Given the description of an element on the screen output the (x, y) to click on. 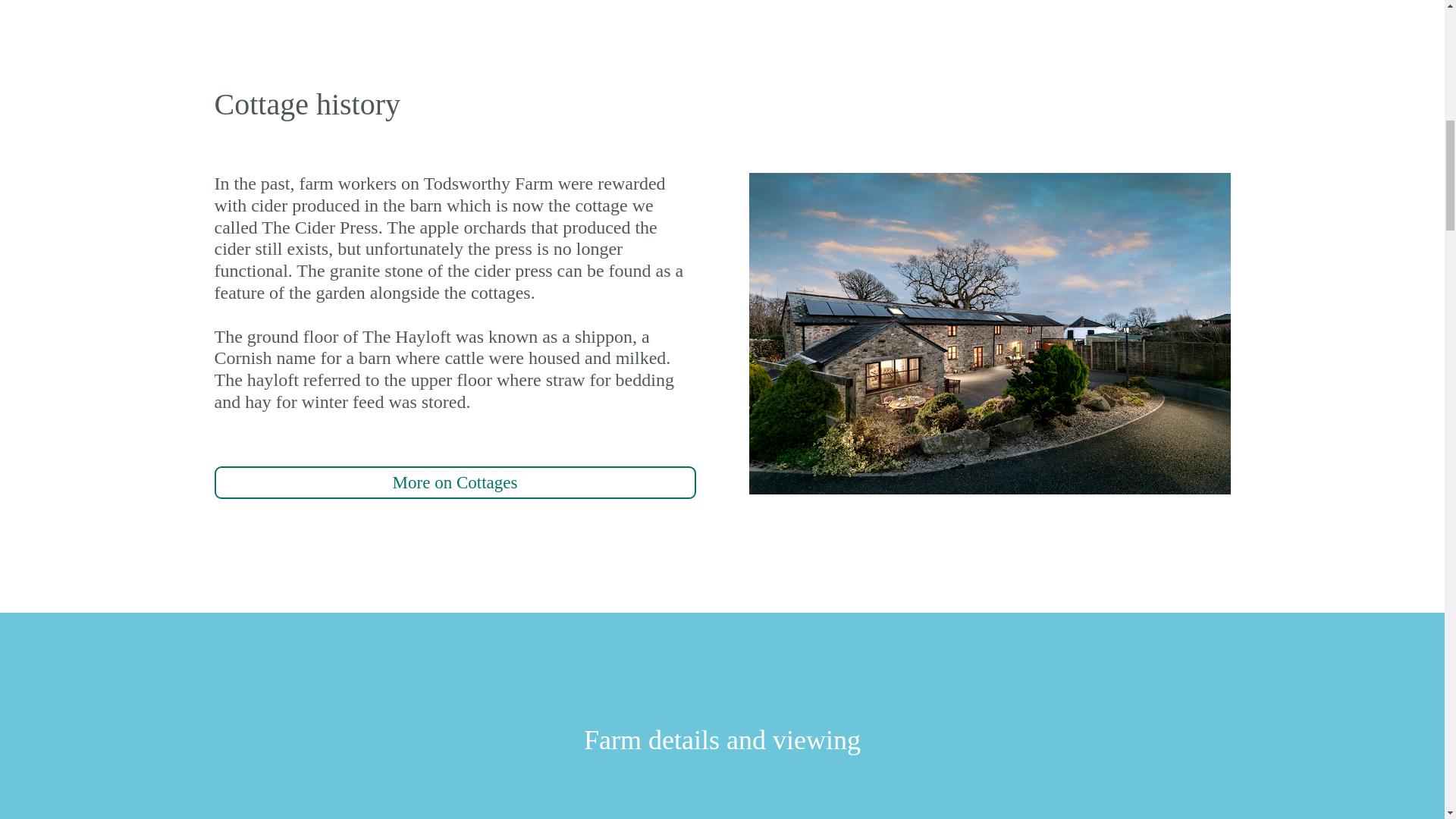
More on Cottages (454, 482)
